Given the description of an element on the screen output the (x, y) to click on. 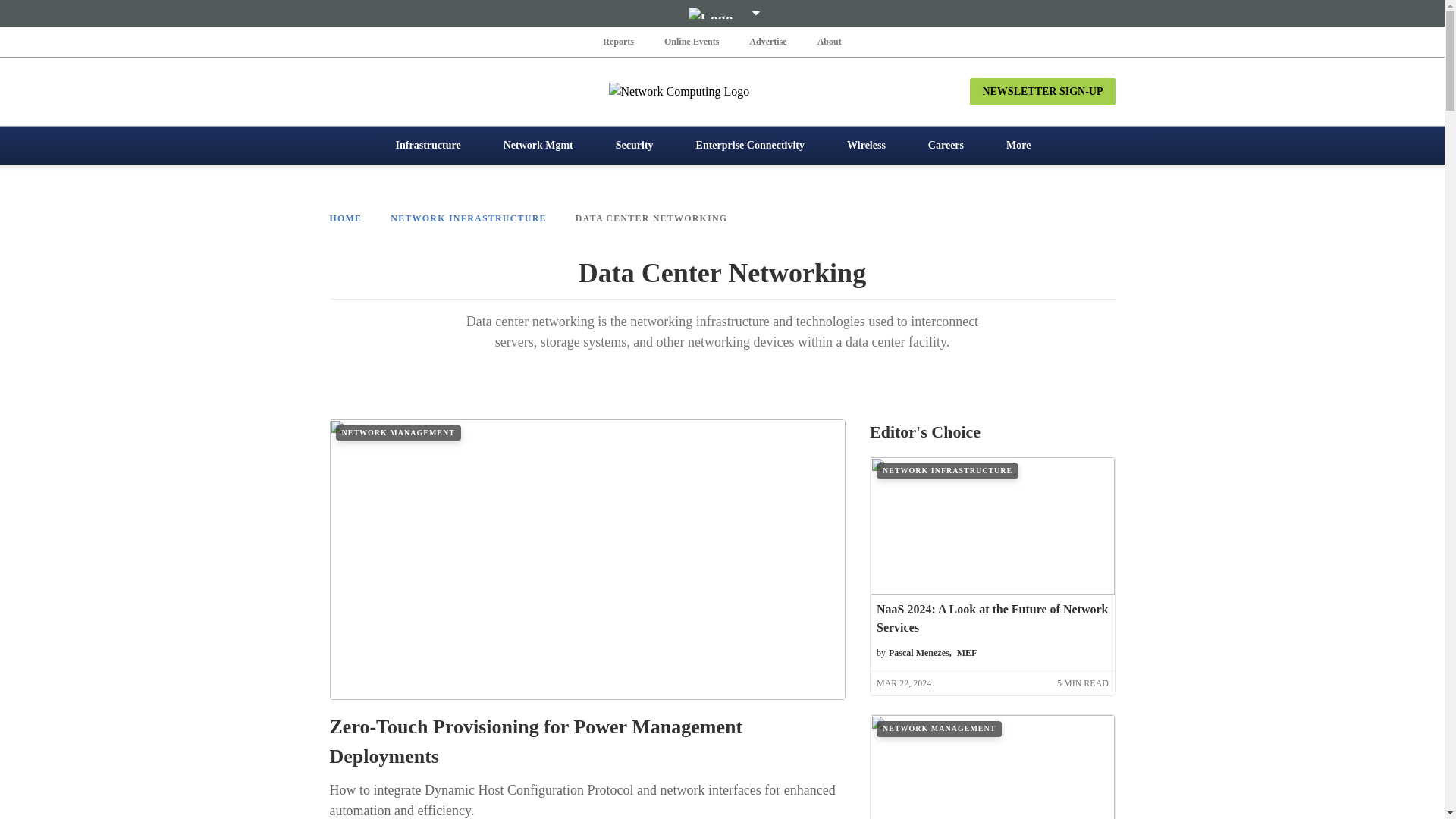
Online Events (691, 41)
Network Computing Logo (721, 91)
About (828, 41)
Reports (618, 41)
Advertise (767, 41)
NEWSLETTER SIGN-UP (1042, 90)
